Given the description of an element on the screen output the (x, y) to click on. 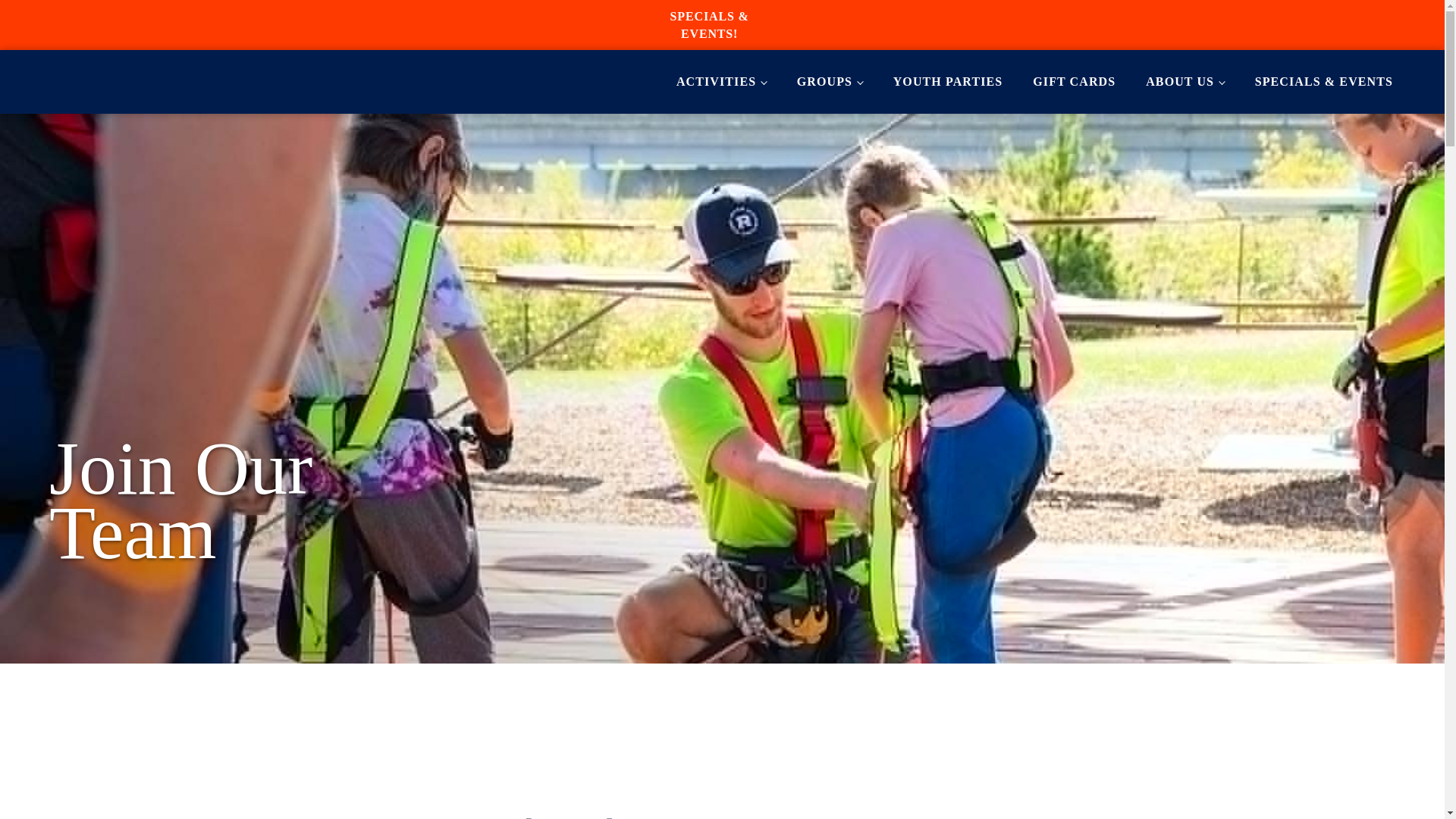
ABOUT US (1185, 81)
ACTIVITIES (721, 81)
GIFT CARDS (1074, 81)
YOUTH PARTIES (947, 81)
GROUPS (829, 81)
